Given the description of an element on the screen output the (x, y) to click on. 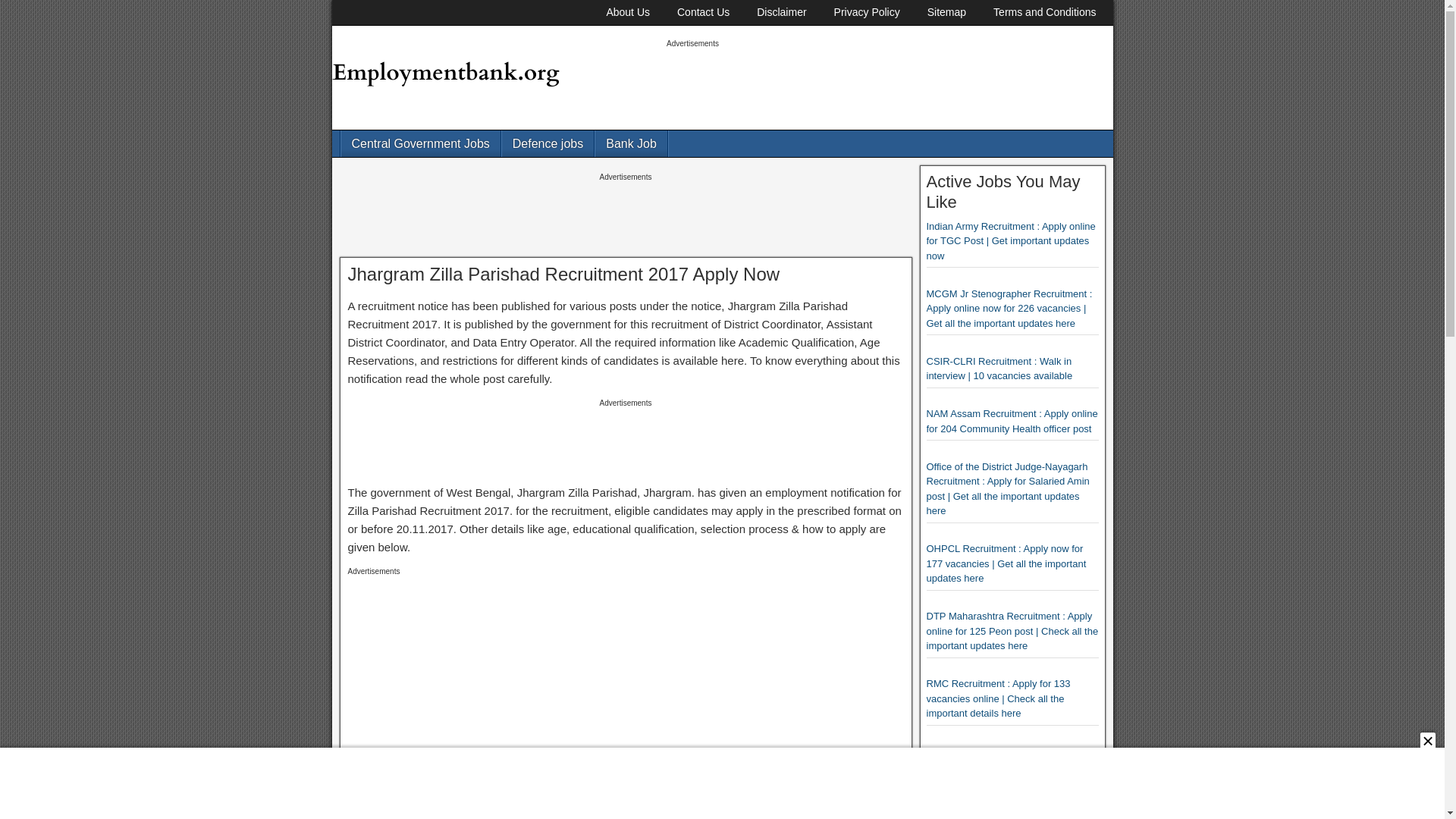
Sitemap (946, 12)
Privacy Policy (867, 12)
About Us (627, 12)
Terms and Conditions (1044, 12)
Disclaimer (780, 12)
Central Government Jobs (420, 143)
Jhargram Zilla Parishad Recruitment 2017 Apply Now (562, 273)
Bank Job (630, 143)
Contact Us (702, 12)
Defence jobs (548, 143)
